Given the description of an element on the screen output the (x, y) to click on. 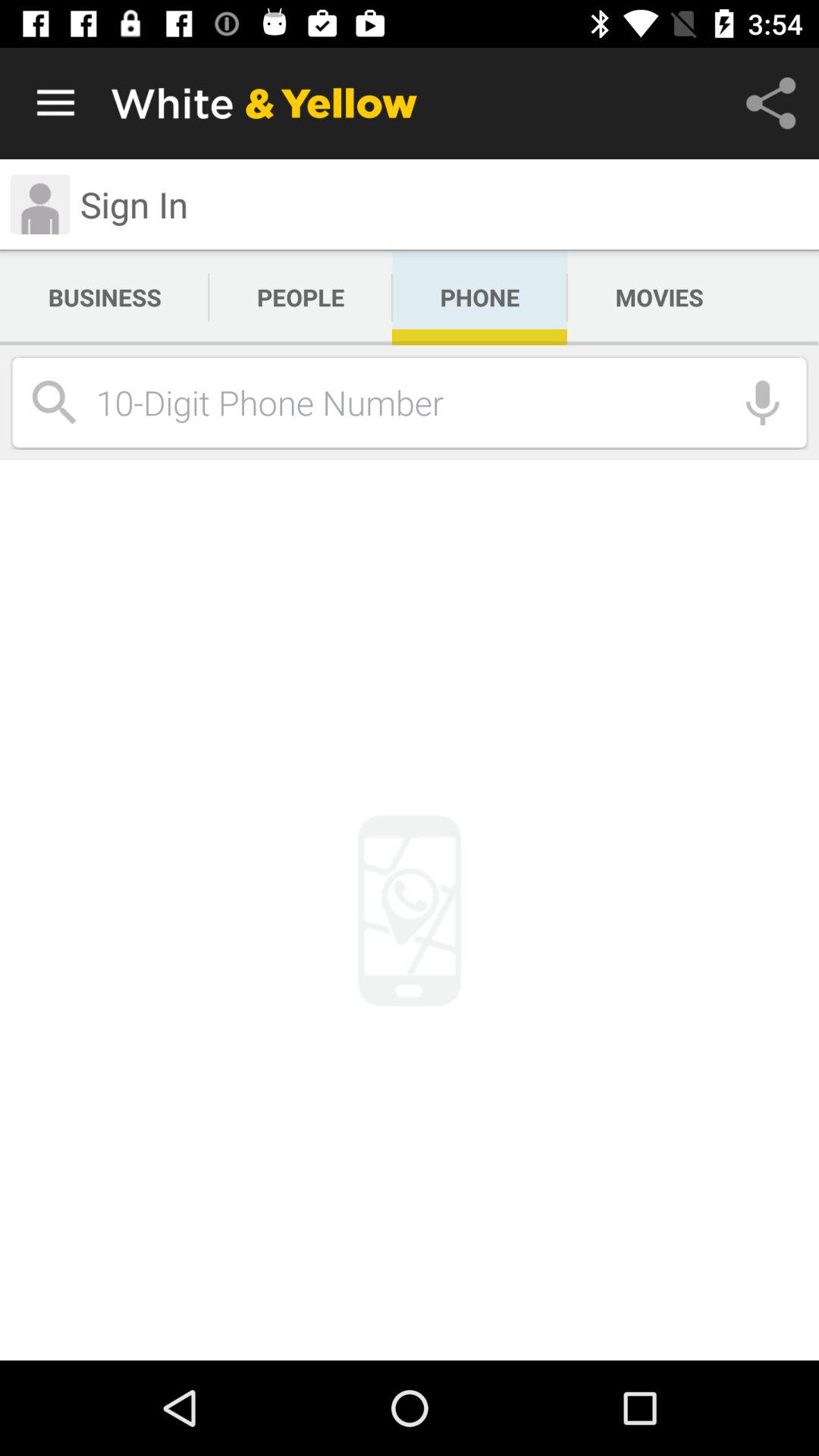
open the icon next to the movies app (479, 297)
